Given the description of an element on the screen output the (x, y) to click on. 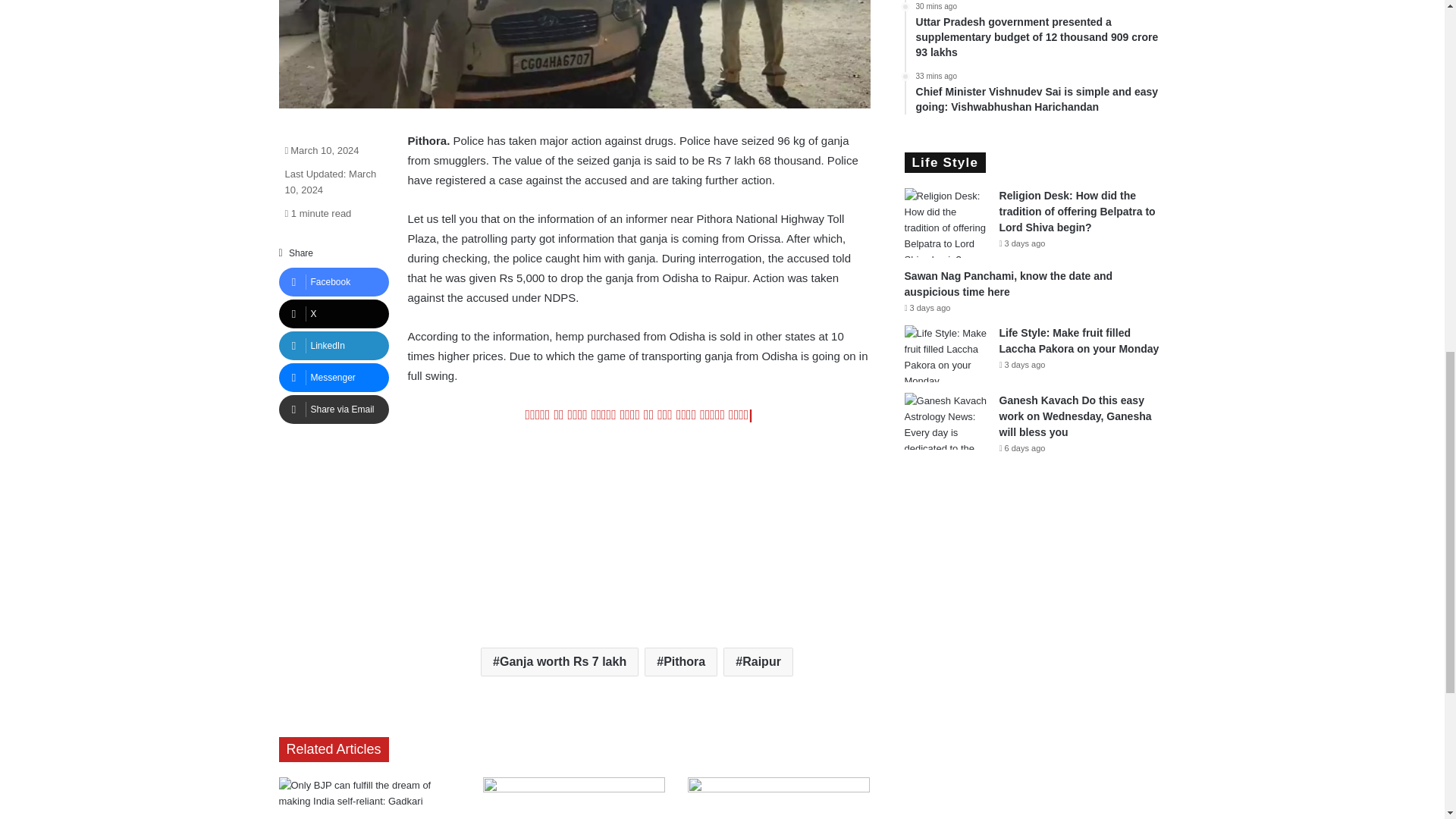
Facebook (333, 281)
LinkedIn (333, 345)
Messenger (333, 377)
X (333, 313)
